Given the description of an element on the screen output the (x, y) to click on. 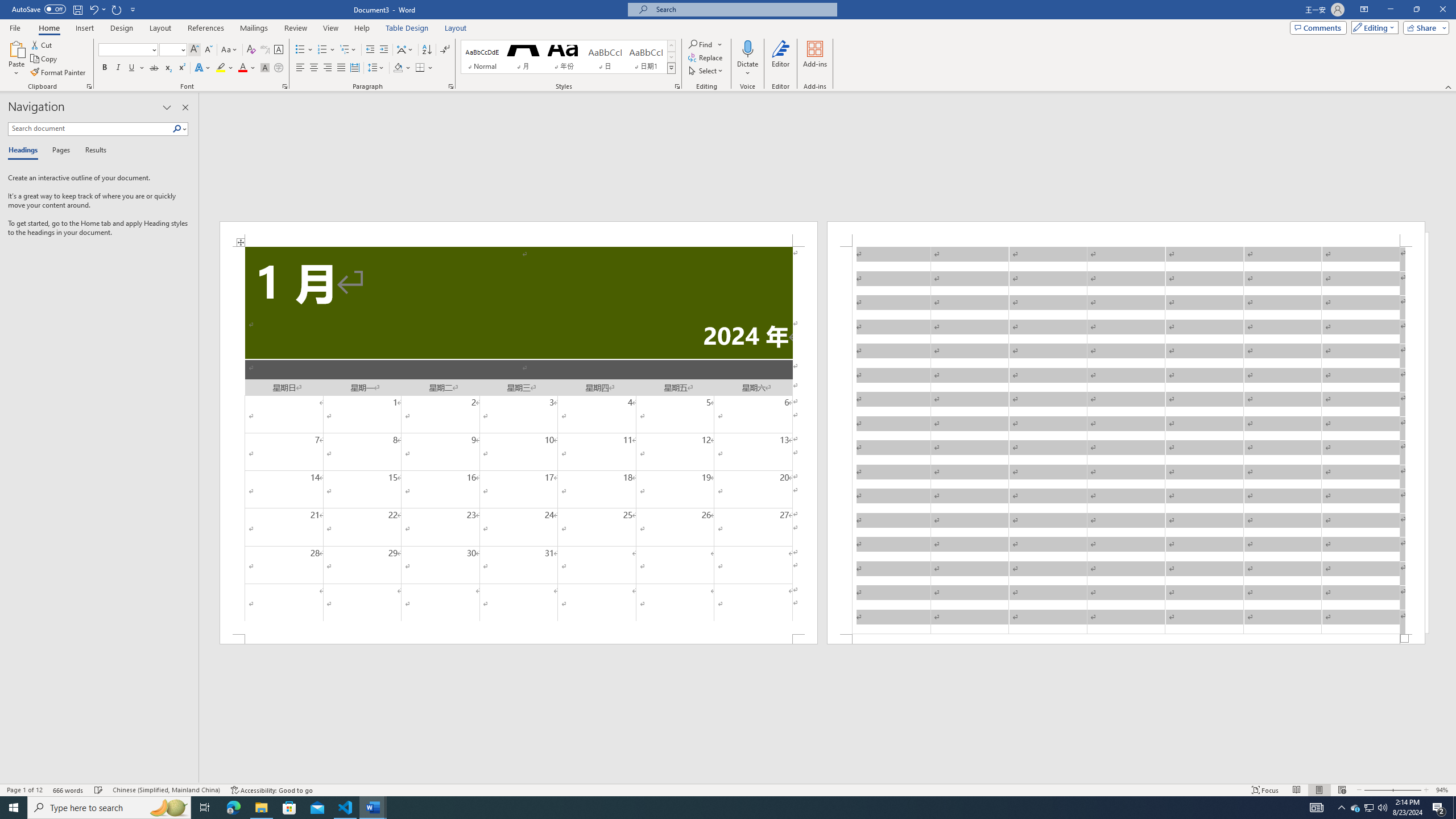
Undo Grow Font (96, 9)
Repeat Grow Font (117, 9)
Undo Grow Font (92, 9)
